Given the description of an element on the screen output the (x, y) to click on. 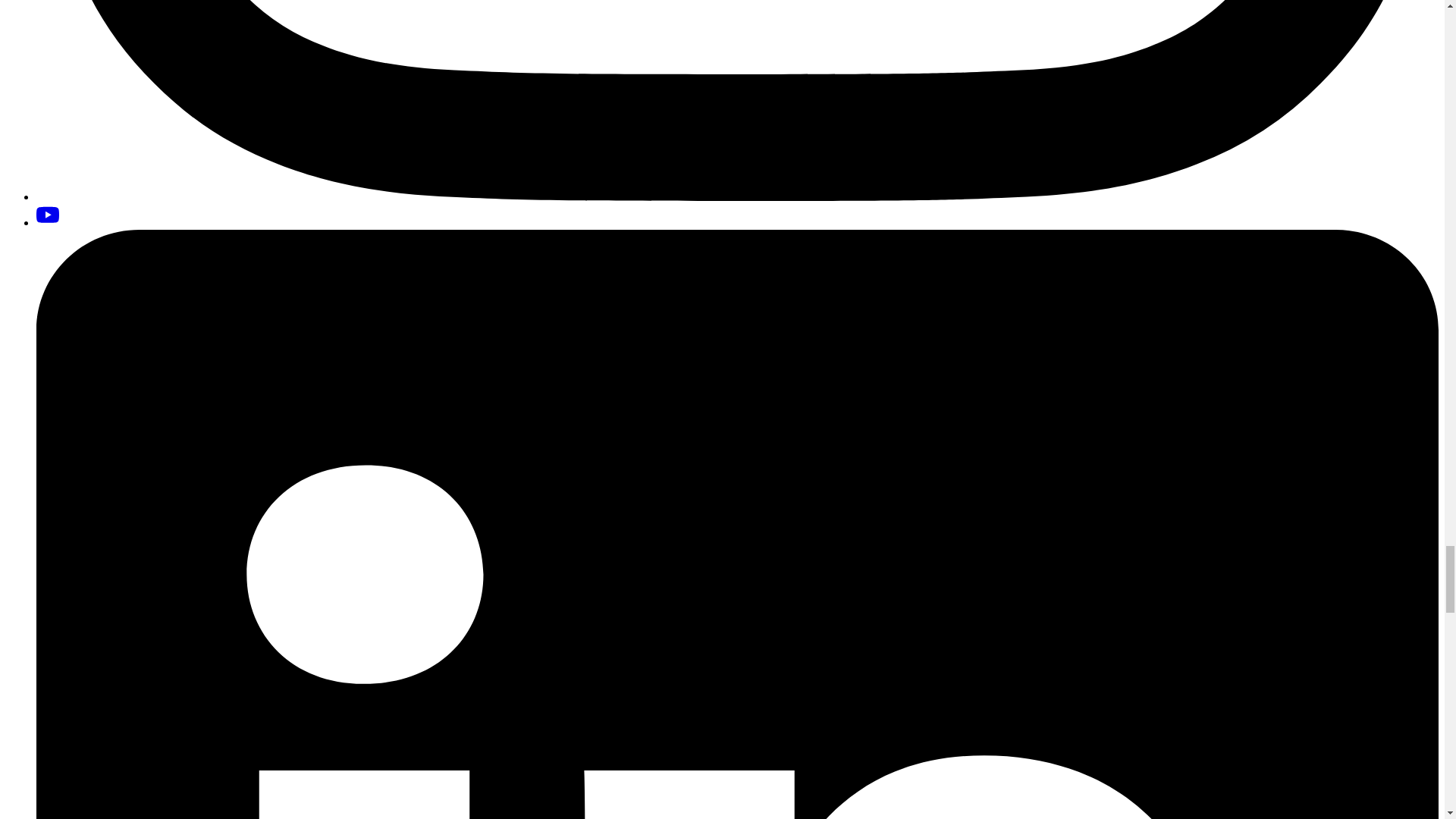
YouTube (47, 214)
